Given the description of an element on the screen output the (x, y) to click on. 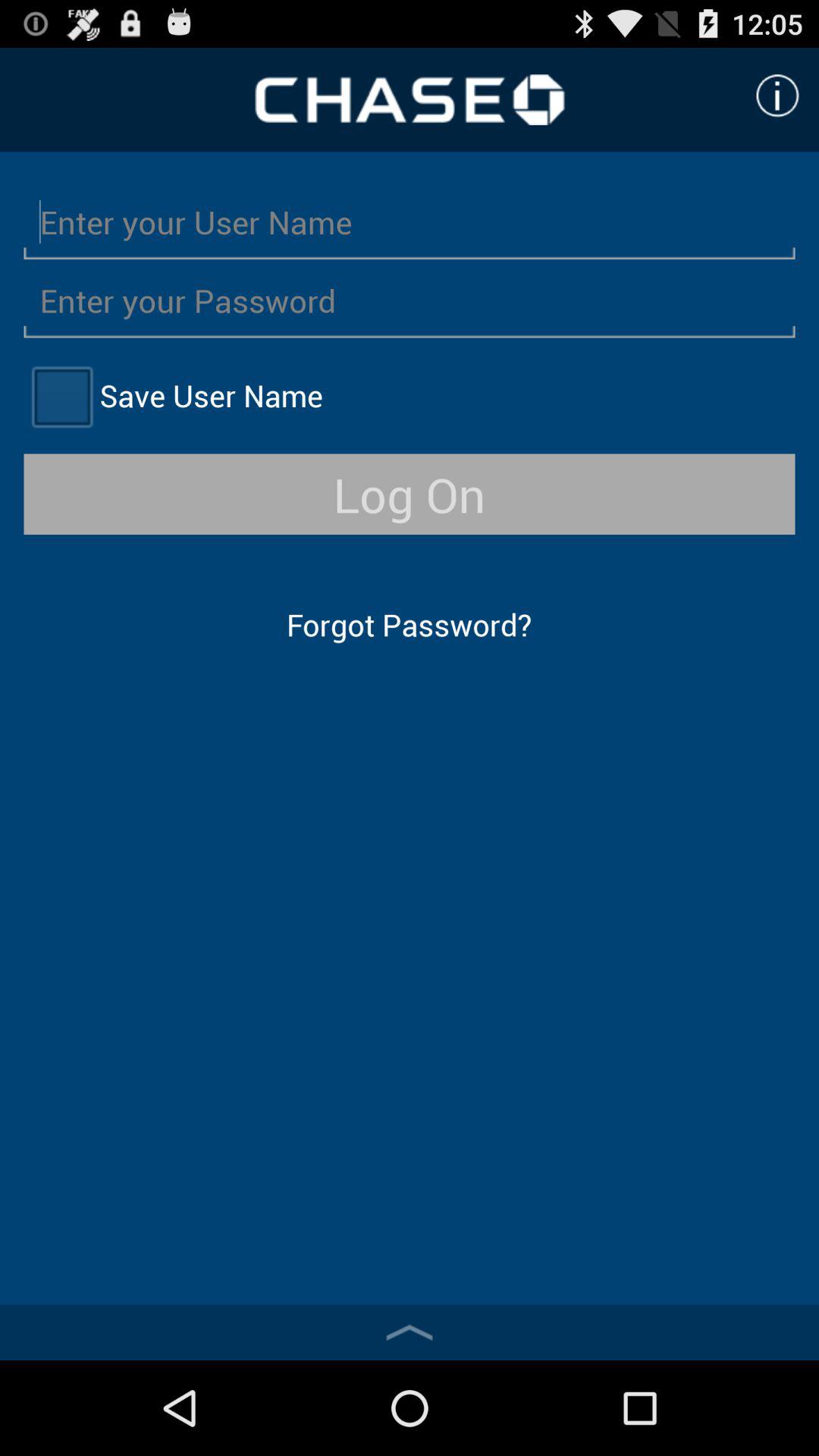
typing box (409, 299)
